Given the description of an element on the screen output the (x, y) to click on. 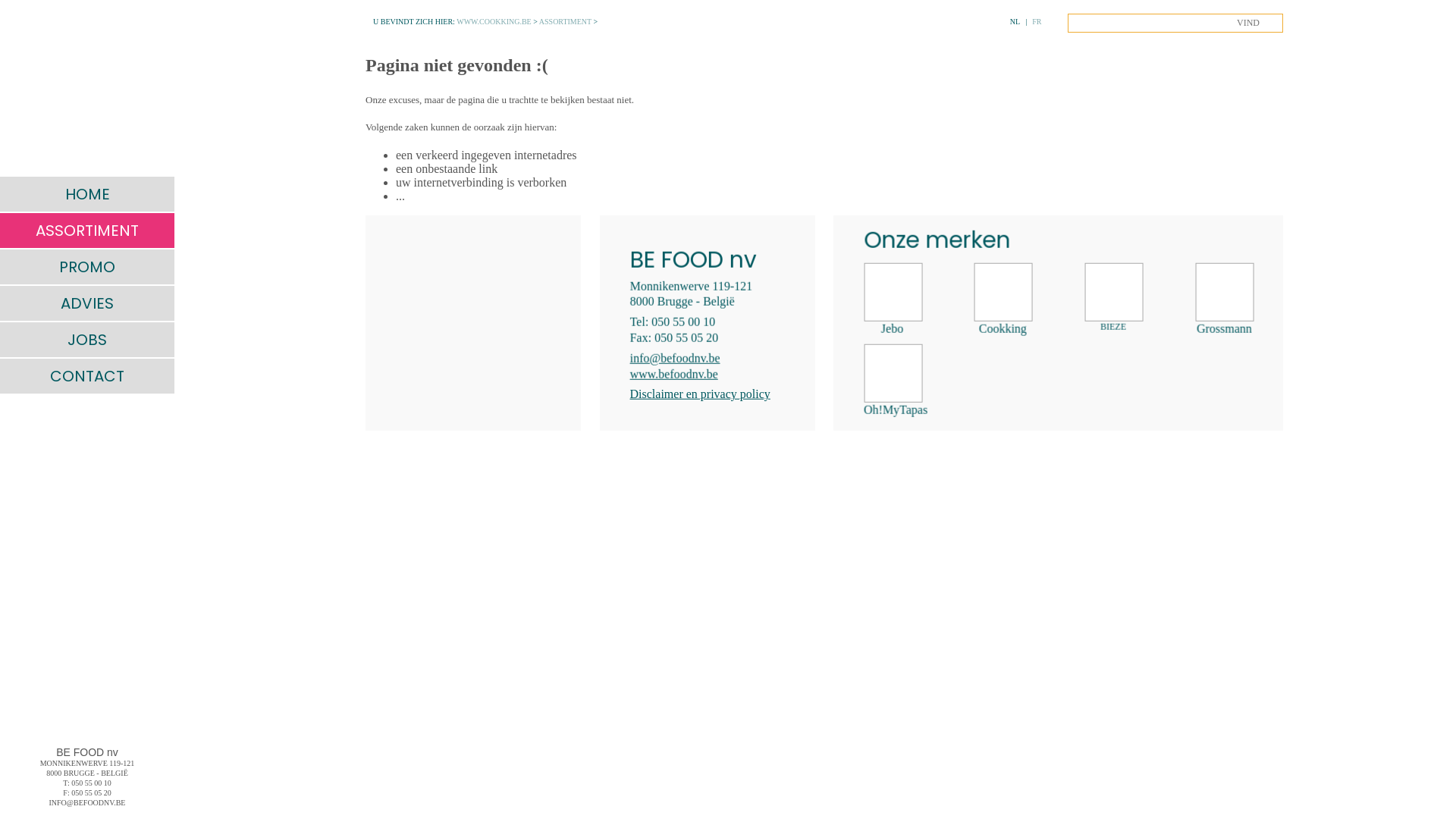
Disclaimer en privacy policy Element type: text (700, 393)
 Cookking Element type: text (1002, 299)
MENU Element type: text (17, 17)
 Jebo Element type: text (891, 299)
ASSORTIMENT Element type: text (87, 230)
CONTACT Element type: text (87, 375)
  Element type: text (472, 322)
PROMO Element type: text (87, 266)
  Element type: text (87, 87)
JOBS Element type: text (87, 339)
ADVIES Element type: text (87, 302)
ASSORTIMENT Element type: text (565, 21)
info@befoodnv.be Element type: text (675, 357)
INFO@BEFOODNV.BE Element type: text (87, 802)
FR Element type: text (1036, 21)
 Oh!MyTapas Element type: text (891, 381)
 Grossmann Element type: text (1223, 299)
HOME Element type: text (87, 193)
WWW.COOKKING.BE Element type: text (493, 21)
www.befoodnv.be Element type: text (674, 373)
